Given the description of an element on the screen output the (x, y) to click on. 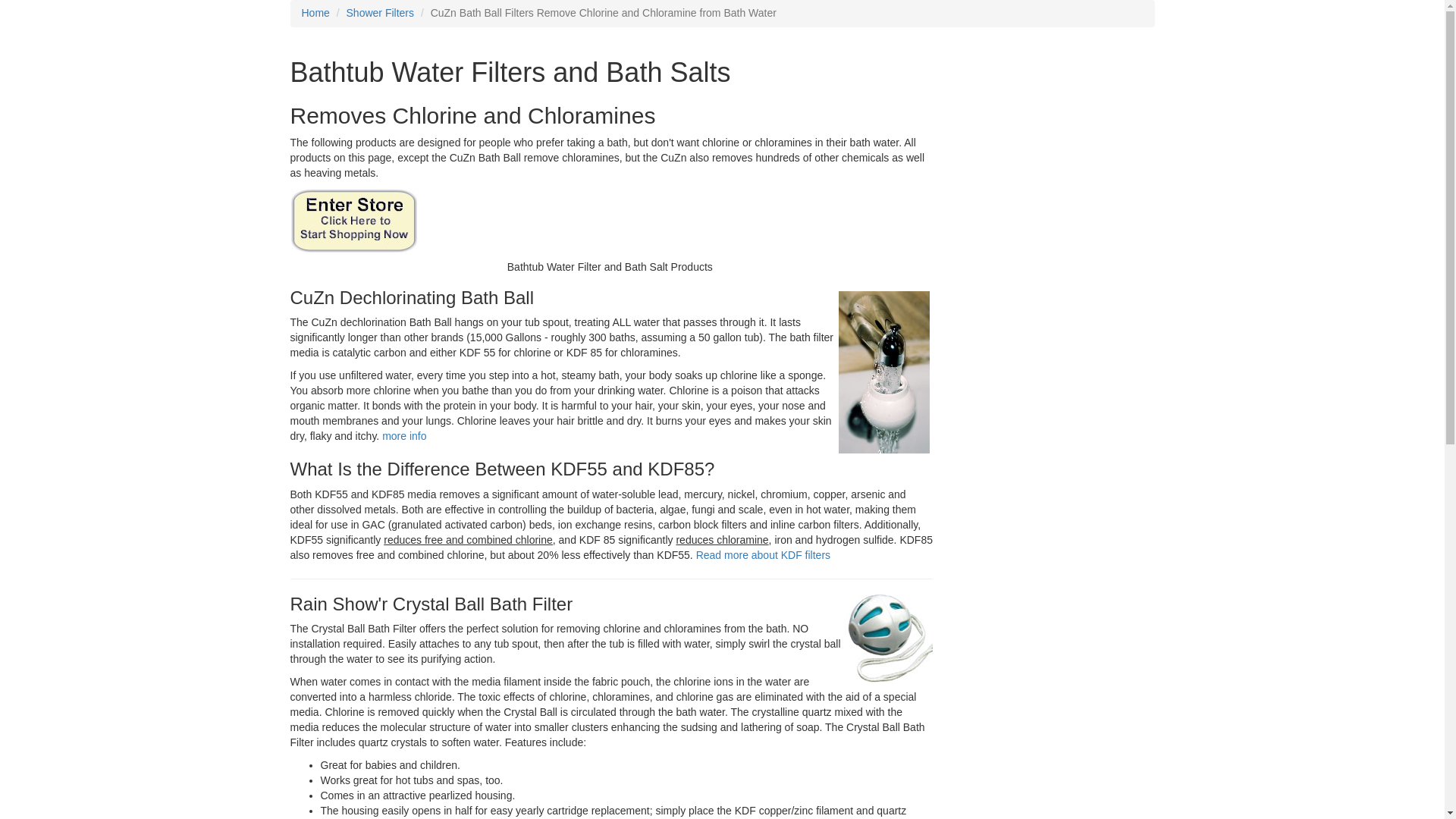
more info (403, 435)
Shower Filters (379, 12)
Read more about KDF filters (762, 554)
Home (315, 12)
